Given the description of an element on the screen output the (x, y) to click on. 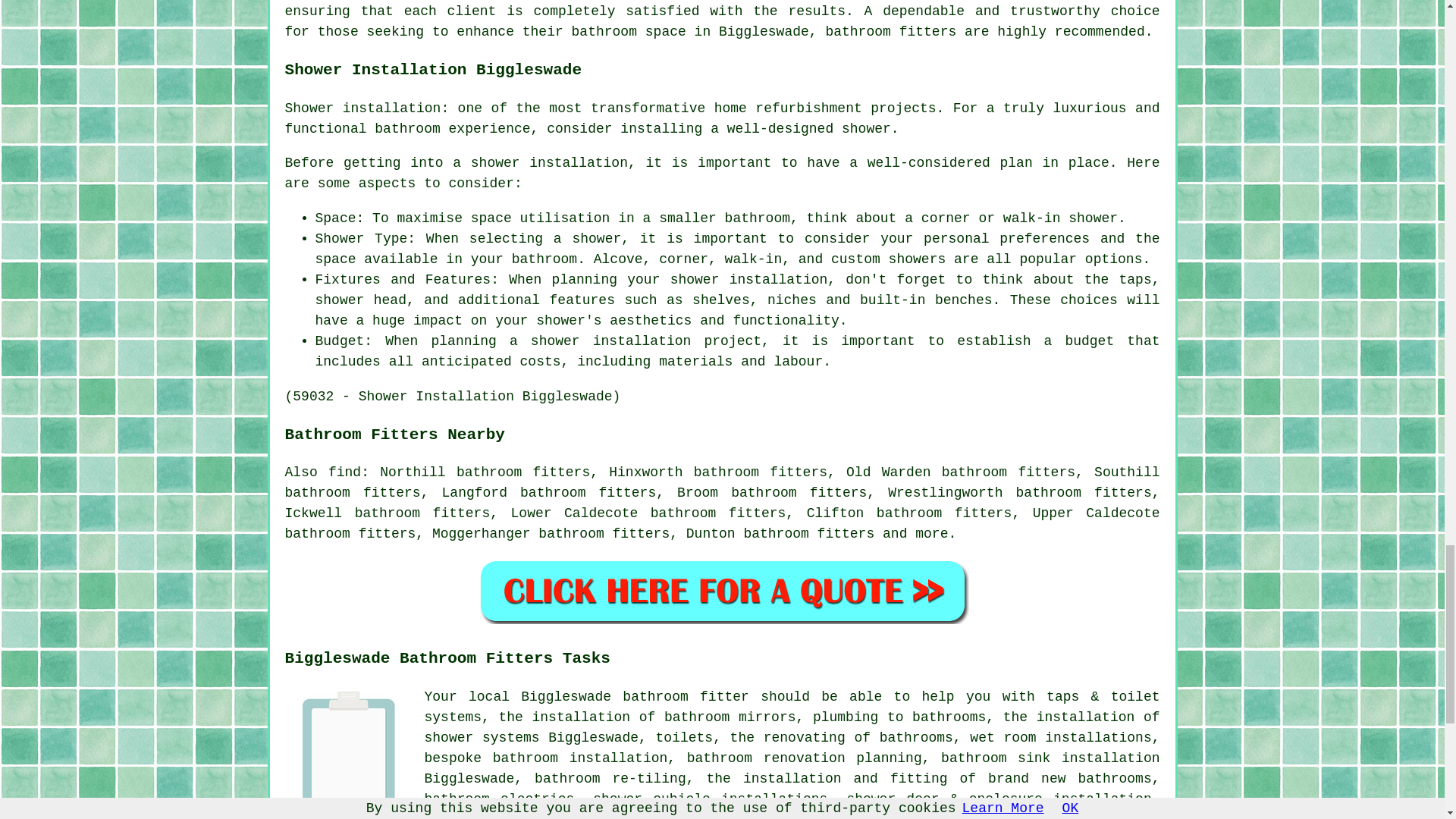
Bathroom Fitters Tasks Biggleswade (349, 751)
cheap bathroom installation (805, 815)
bathroom renovation planning (804, 758)
